Given the description of an element on the screen output the (x, y) to click on. 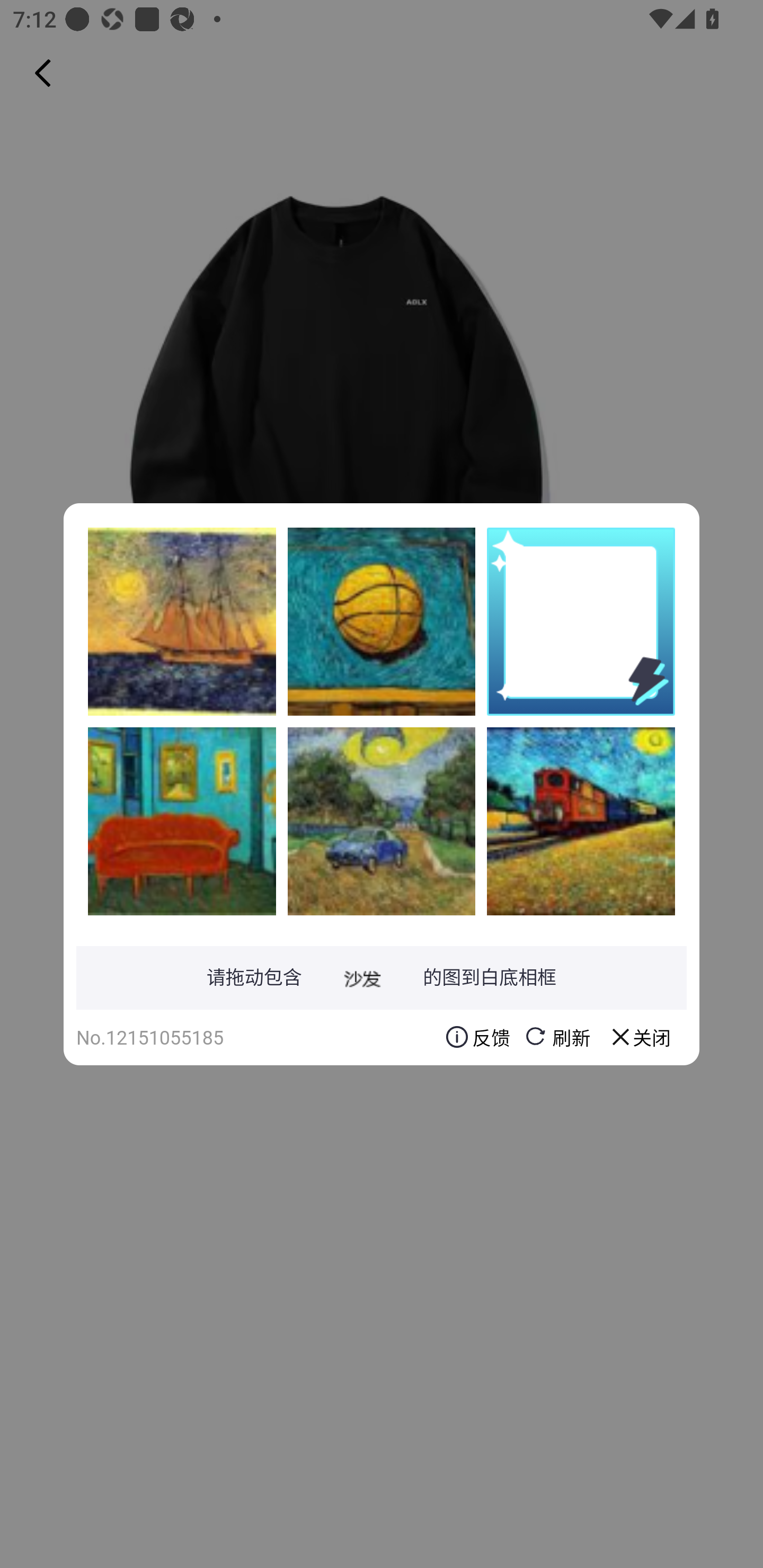
Dxw (381, 621)
